Given the description of an element on the screen output the (x, y) to click on. 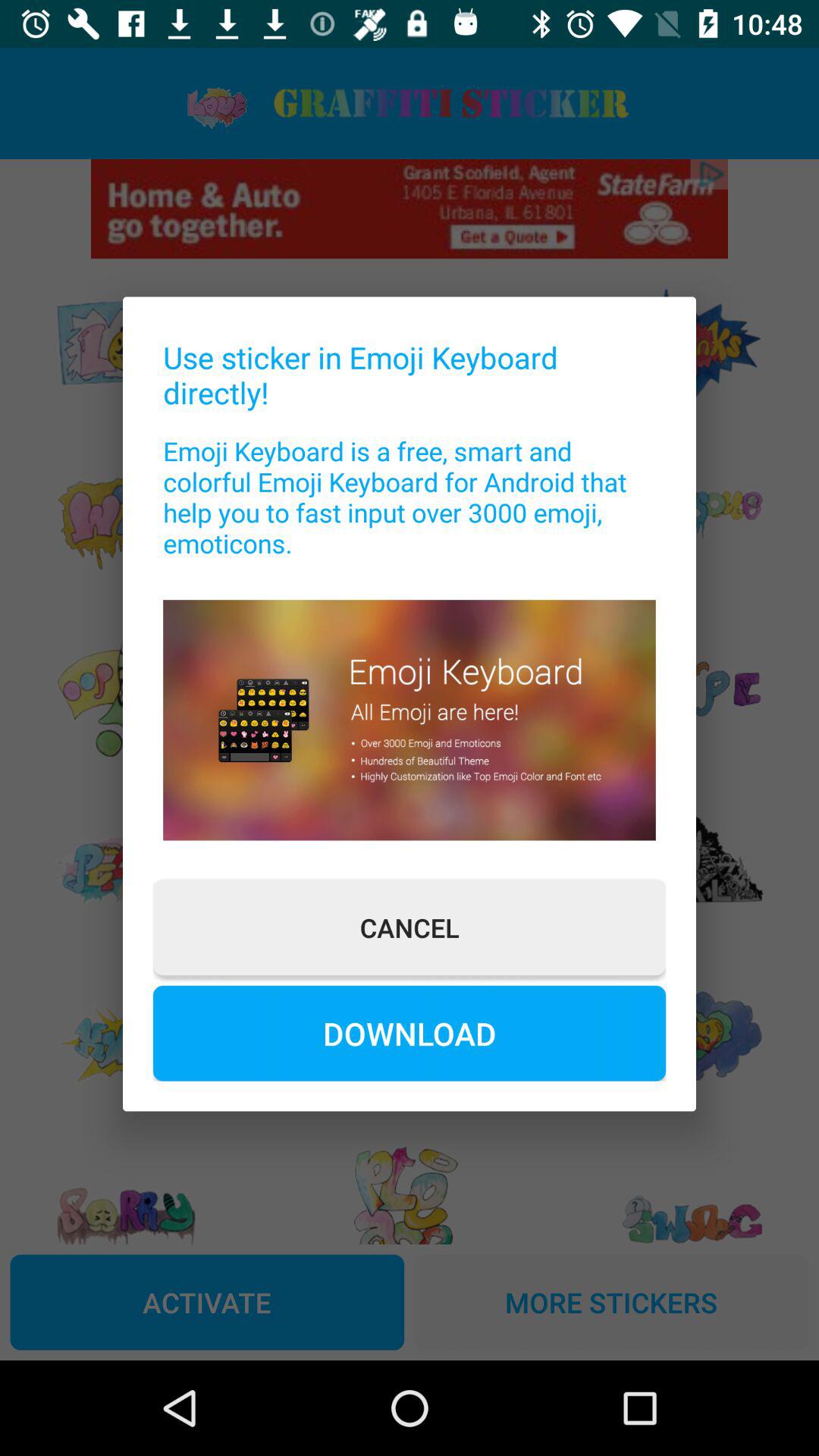
press the icon at the bottom (409, 1033)
